Given the description of an element on the screen output the (x, y) to click on. 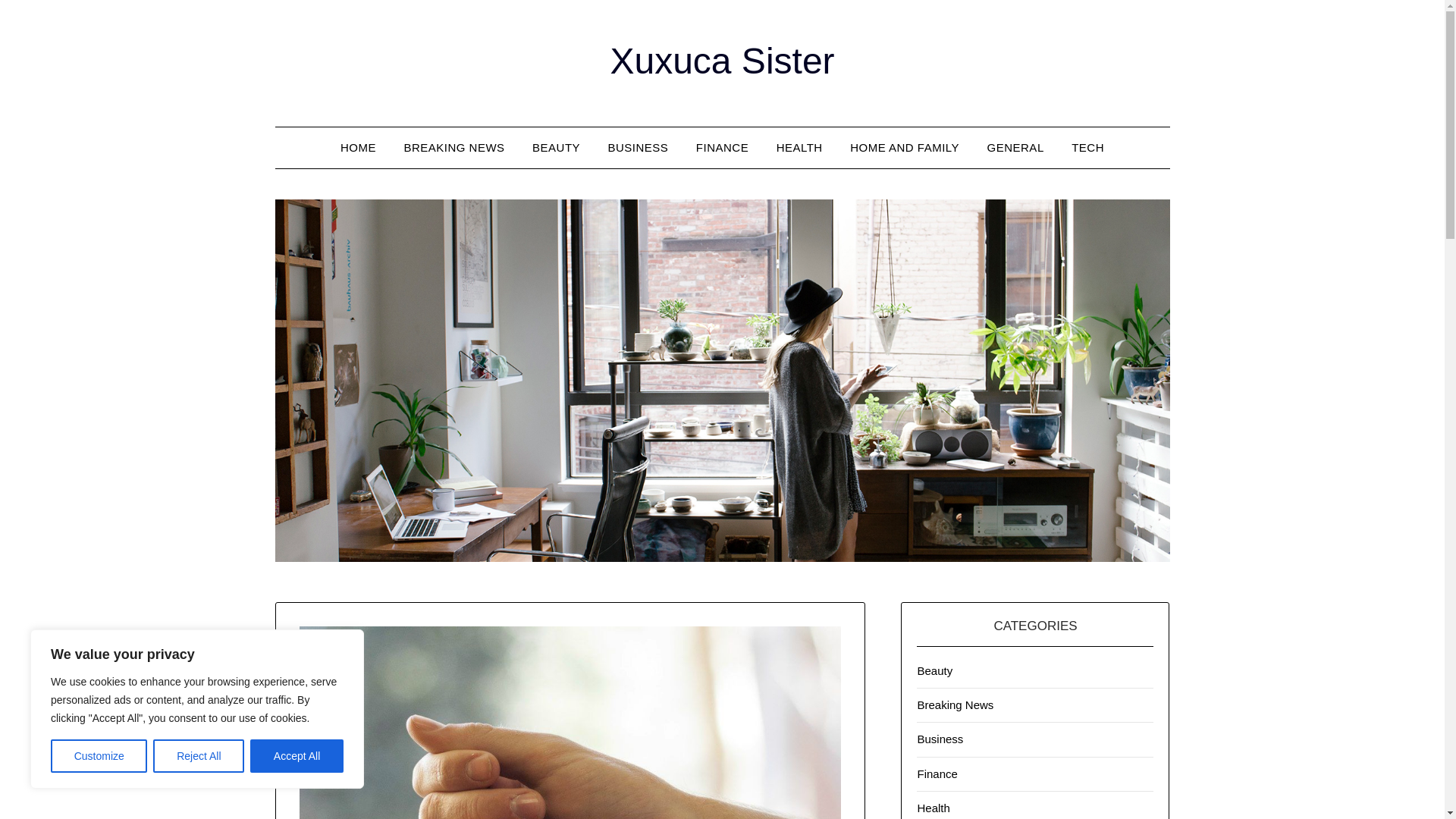
BUSINESS (638, 147)
Beauty (934, 670)
HOME (358, 147)
Health (933, 807)
FINANCE (722, 147)
Breaking News (954, 704)
Finance (936, 773)
HEALTH (799, 147)
Business (939, 738)
Reject All (198, 756)
TECH (1087, 147)
Accept All (296, 756)
Xuxuca Sister (722, 60)
BREAKING NEWS (453, 147)
HOME AND FAMILY (904, 147)
